Given the description of an element on the screen output the (x, y) to click on. 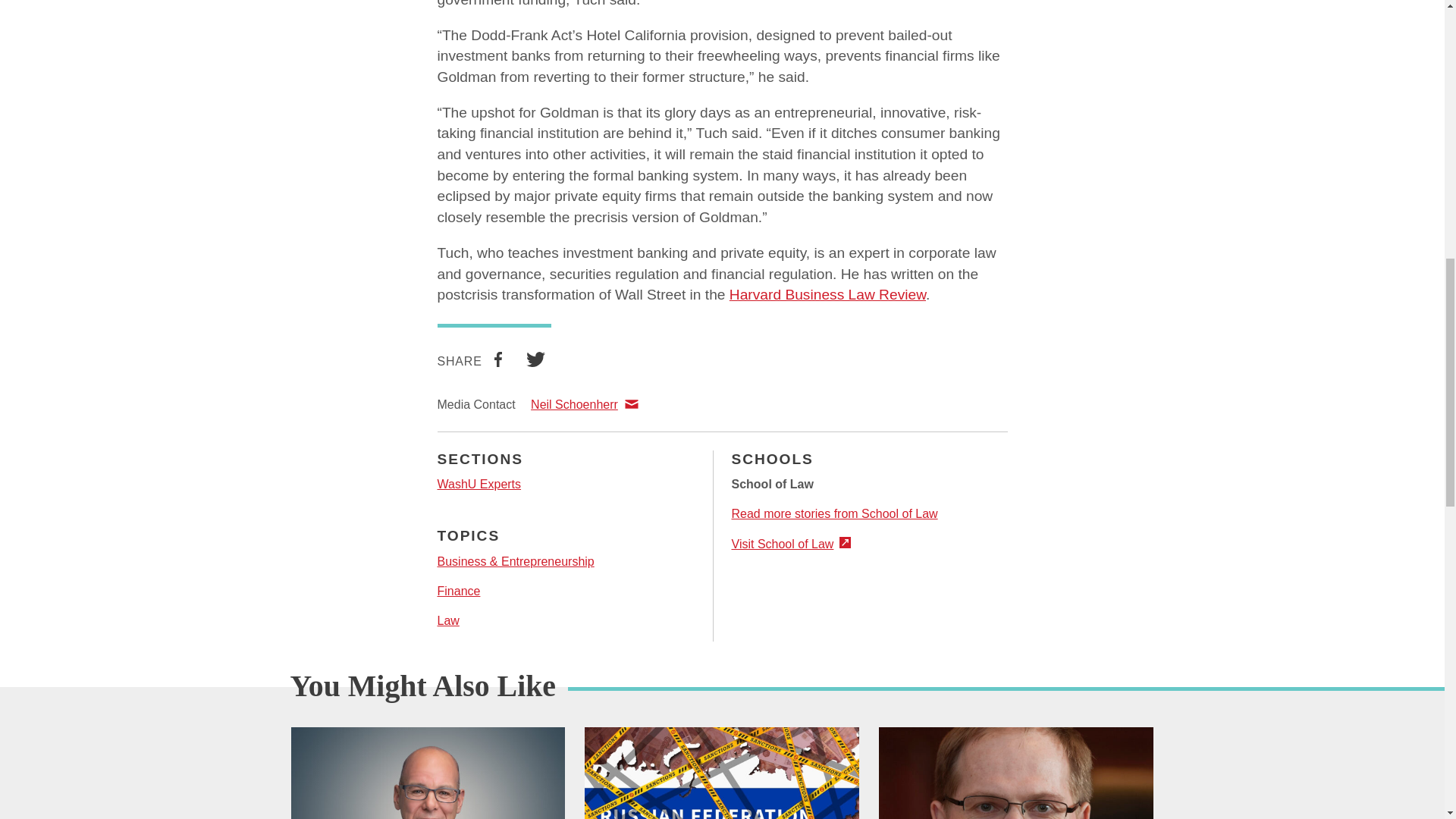
Click to share on Twitter (535, 361)
Click to share on Facebook (497, 361)
